Given the description of an element on the screen output the (x, y) to click on. 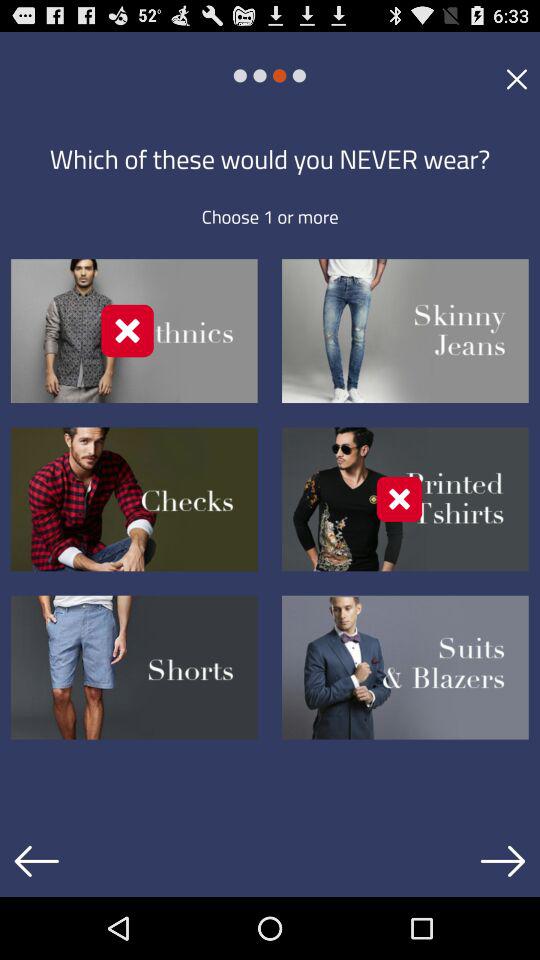
go back (36, 861)
